Given the description of an element on the screen output the (x, y) to click on. 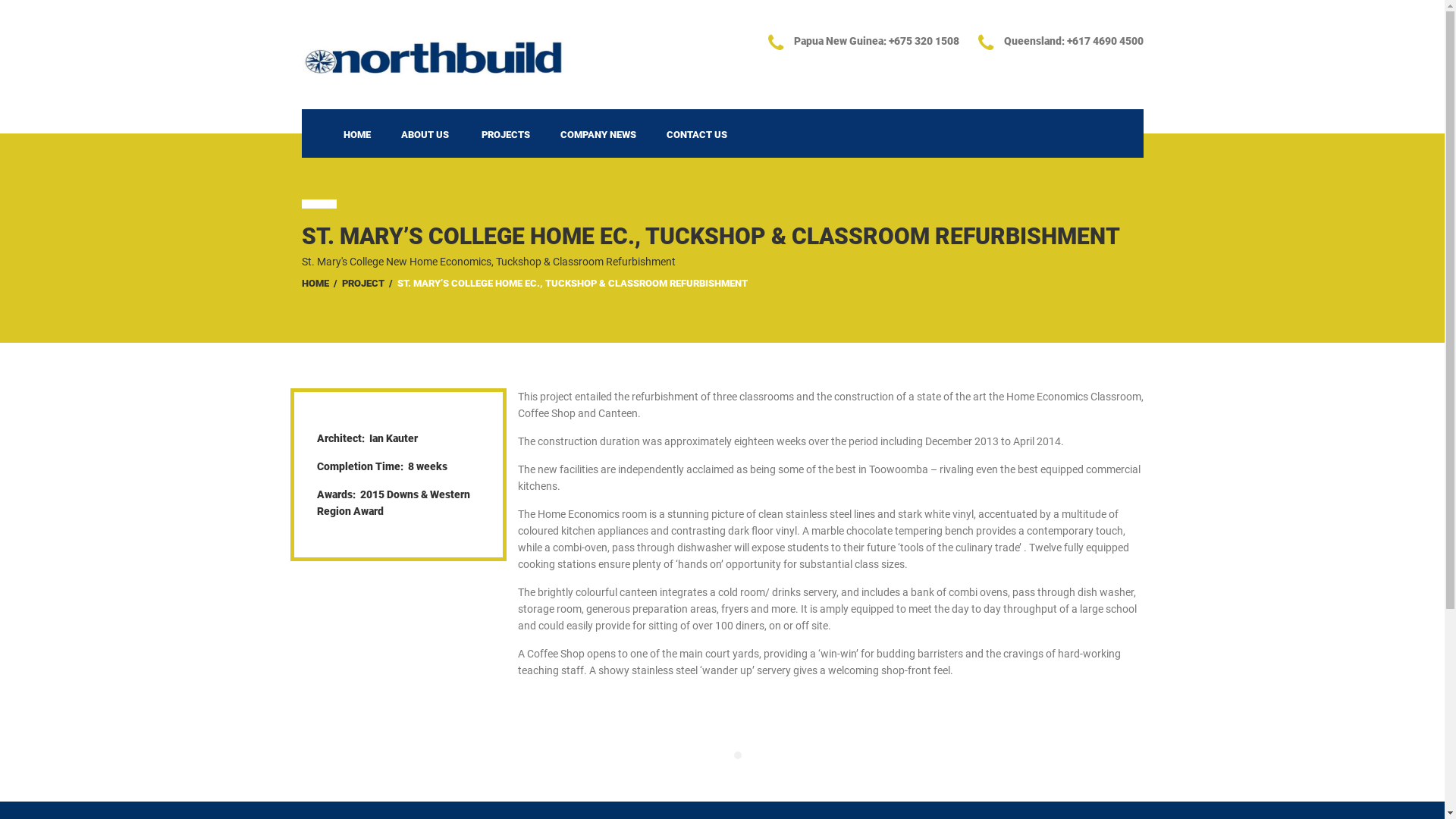
HOME Element type: text (315, 282)
COMPANY NEWS Element type: text (597, 133)
HOME Element type: text (356, 133)
CONTACT US Element type: text (695, 133)
ABOUT US Element type: text (425, 133)
PROJECTS Element type: text (504, 133)
PROJECT Element type: text (362, 282)
